Given the description of an element on the screen output the (x, y) to click on. 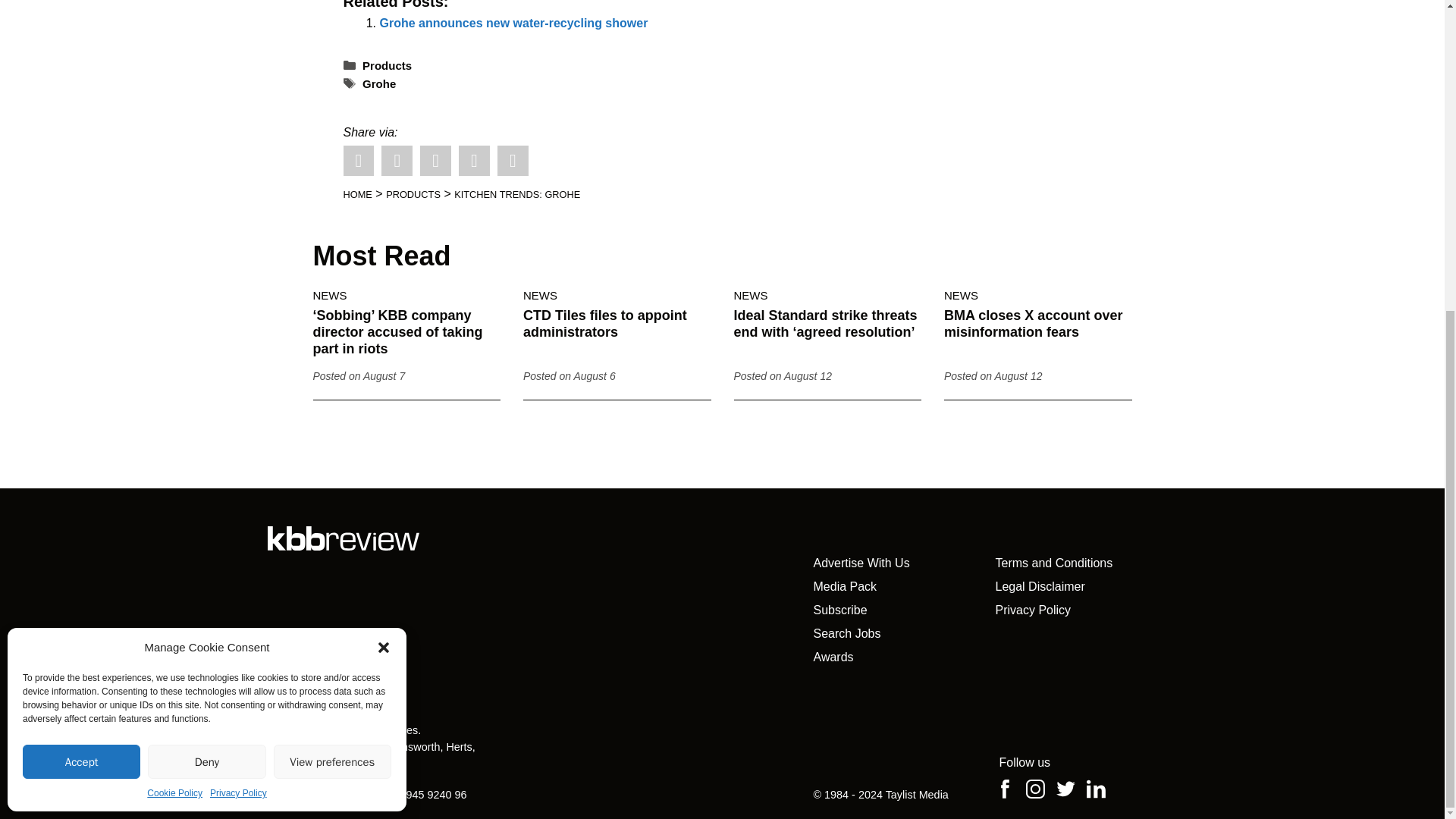
Grohe announces new water-recycling shower (512, 22)
Print (473, 160)
Mail (512, 160)
Facebook (396, 160)
Linkedin (435, 160)
Privacy Policy (237, 299)
Cookie Policy (174, 299)
Accept (81, 267)
View preferences (332, 267)
Deny (206, 267)
